Given the description of an element on the screen output the (x, y) to click on. 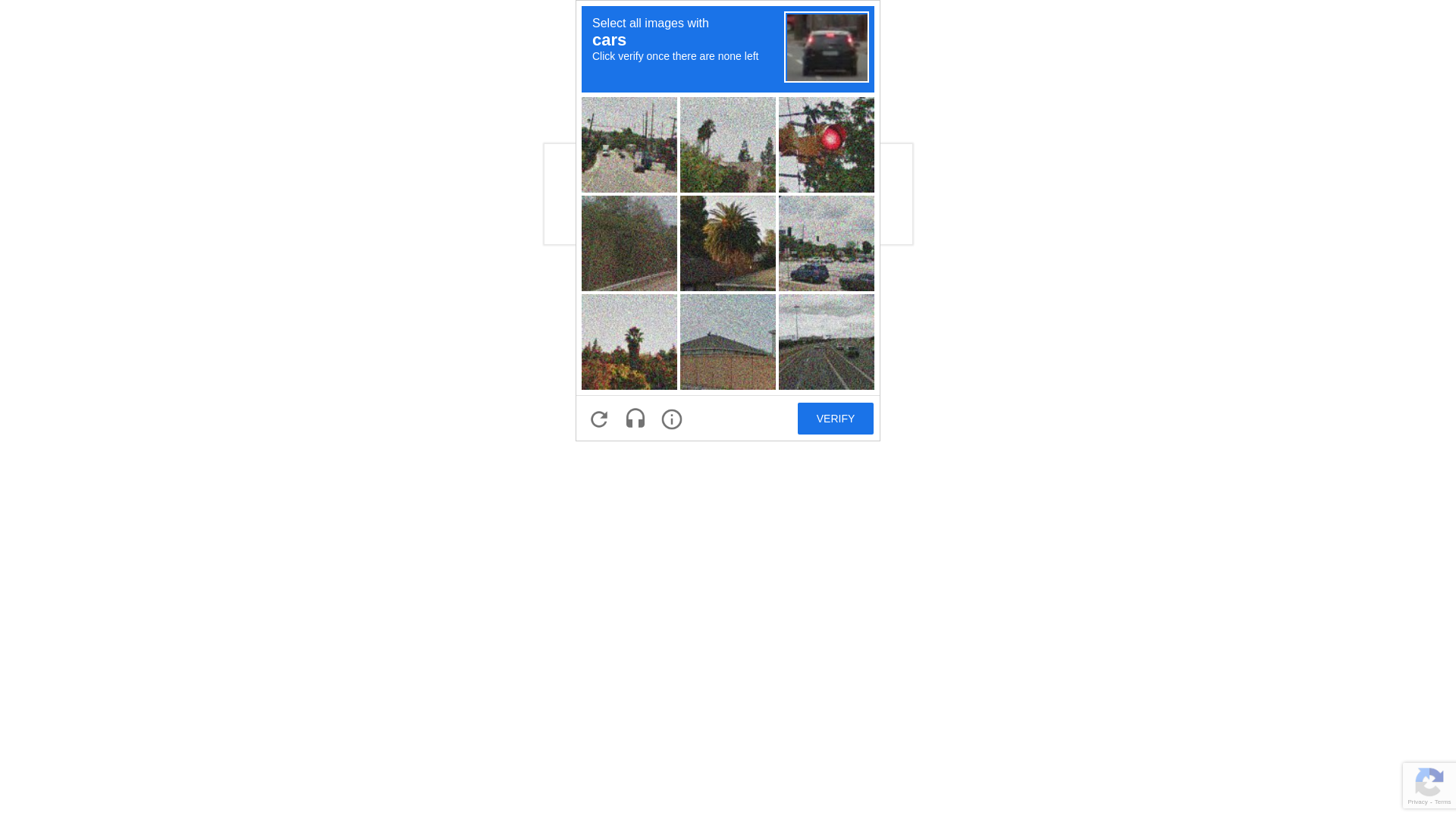
recaptcha challenge expires in two minutes Element type: hover (727, 220)
